Given the description of an element on the screen output the (x, y) to click on. 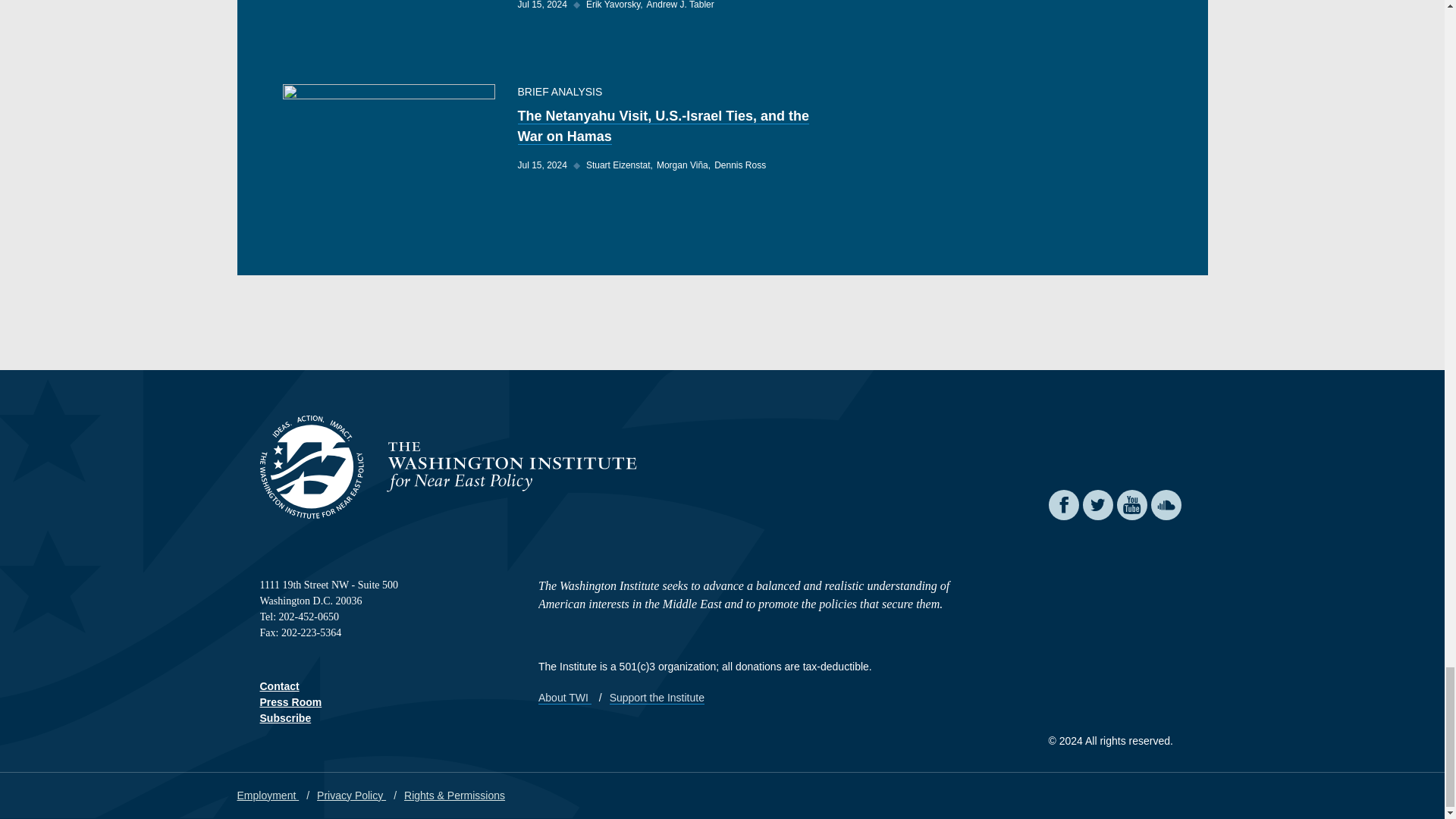
Sign up for email alerts of Institute publications (285, 717)
